Given the description of an element on the screen output the (x, y) to click on. 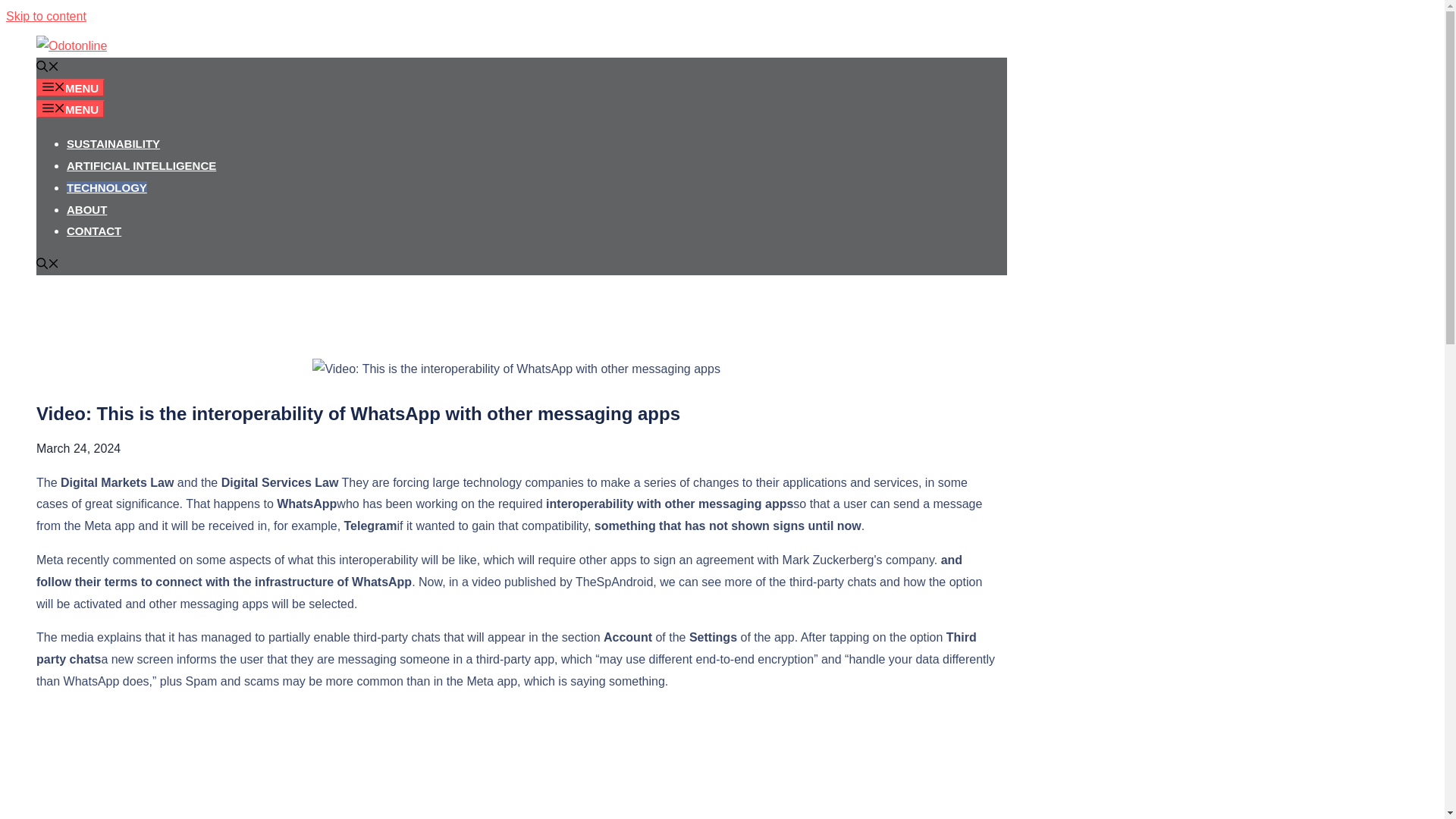
Skip to content (45, 15)
MENU (70, 108)
ABOUT (86, 209)
Skip to content (45, 15)
MENU (70, 87)
CONTACT (93, 230)
TECHNOLOGY (106, 187)
SUSTAINABILITY (113, 143)
ARTIFICIAL INTELLIGENCE (140, 164)
